Given the description of an element on the screen output the (x, y) to click on. 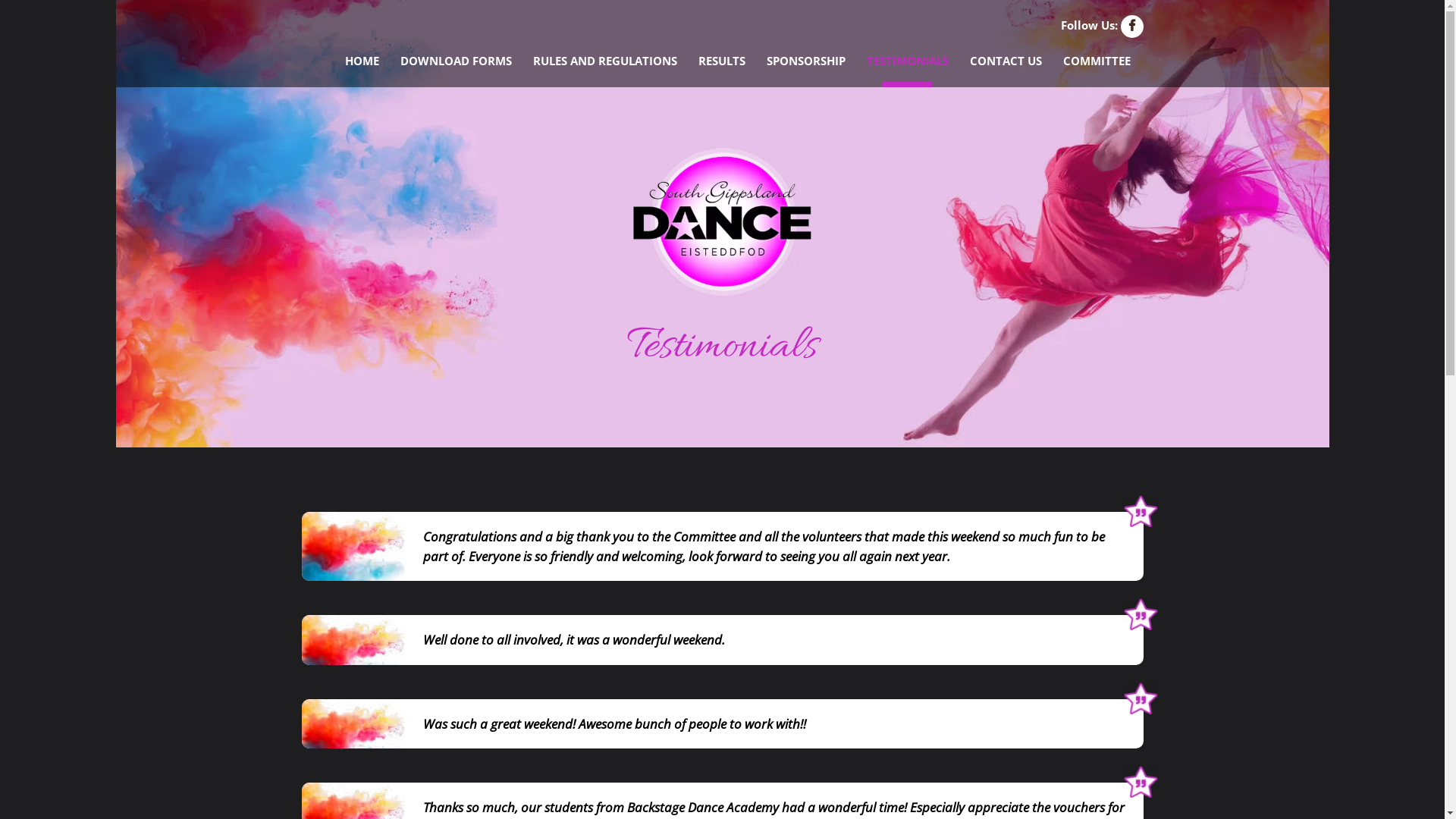
CONTACT US Element type: text (1005, 60)
RULES AND REGULATIONS Element type: text (604, 60)
HOME Element type: text (361, 60)
SPONSORSHIP Element type: text (804, 60)
DOWNLOAD FORMS Element type: text (455, 60)
COMMITTEE Element type: text (1096, 60)
TESTIMONIALS Element type: text (906, 60)
RESULTS Element type: text (720, 60)
South Gippsland Dance Eisteddfod Element type: hover (722, 220)
